Given the description of an element on the screen output the (x, y) to click on. 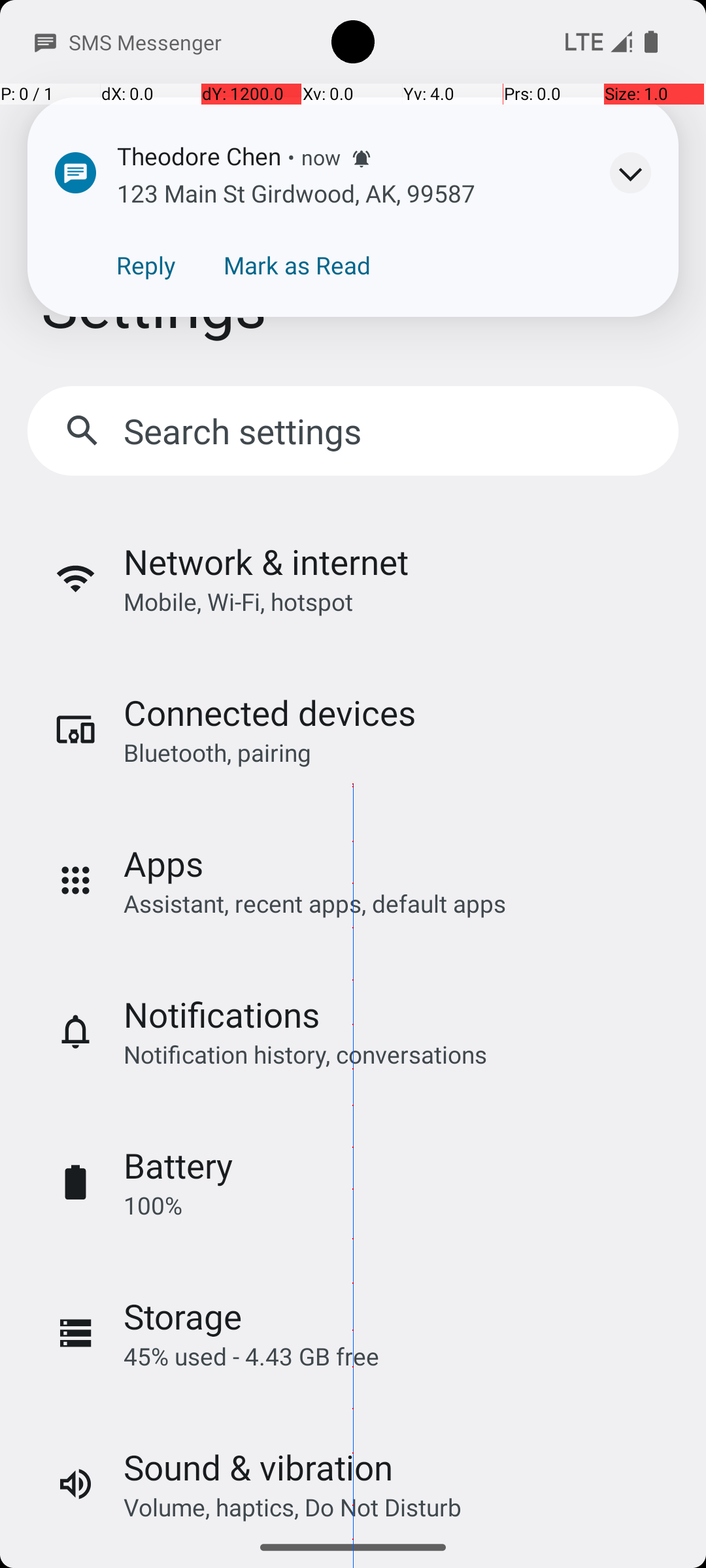
Profile picture, double tap to open Google Account Element type: android.widget.ImageView (623, 220)
Search settings Element type: android.widget.TextView (245, 430)
Network & internet Element type: android.widget.TextView (265, 561)
Mobile, Wi‑Fi, hotspot Element type: android.widget.TextView (238, 601)
Connected devices Element type: android.widget.TextView (269, 712)
Bluetooth, pairing Element type: android.widget.TextView (217, 751)
Assistant, recent apps, default apps Element type: android.widget.TextView (314, 902)
Notification history, conversations Element type: android.widget.TextView (305, 1053)
Battery Element type: android.widget.TextView (178, 1165)
100% Element type: android.widget.TextView (152, 1204)
45% used - 4.43 GB free Element type: android.widget.TextView (251, 1355)
Volume, haptics, Do Not Disturb Element type: android.widget.TextView (292, 1506)
123 Main St Girdwood, AK, 99587 Element type: android.widget.TextView (296, 192)
Expand Element type: android.widget.Button (630, 172)
Reply Element type: android.widget.Button (146, 265)
Mark as Read Element type: android.widget.Button (296, 265)
Theodore Chen Element type: android.widget.TextView (199, 155)
• Element type: android.widget.TextView (290, 157)
now Element type: android.widget.TextView (320, 157)
Alerted Element type: android.widget.ImageView (361, 158)
